Given the description of an element on the screen output the (x, y) to click on. 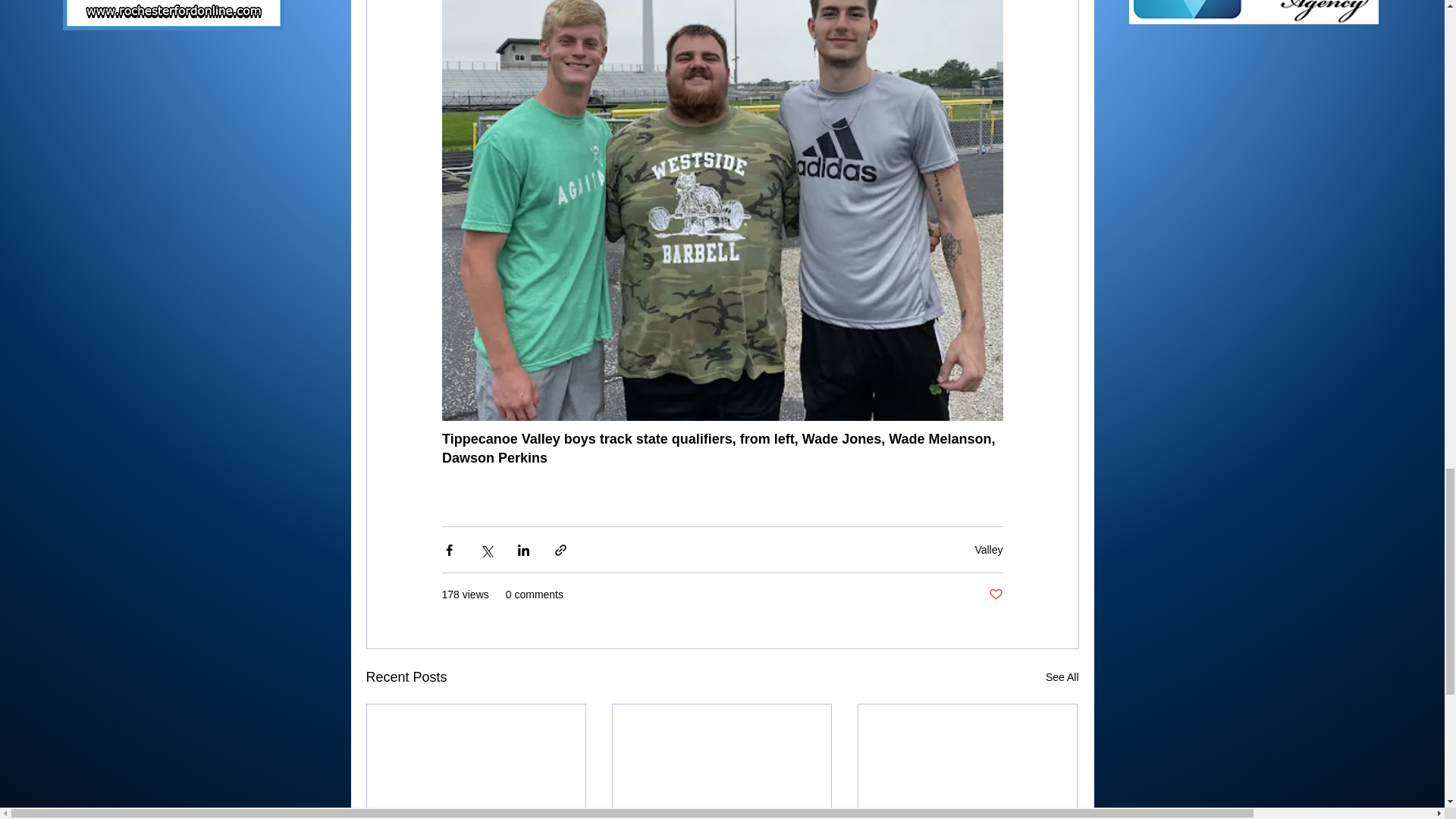
Post not marked as liked (995, 594)
Valley (988, 549)
See All (1061, 677)
